Given the description of an element on the screen output the (x, y) to click on. 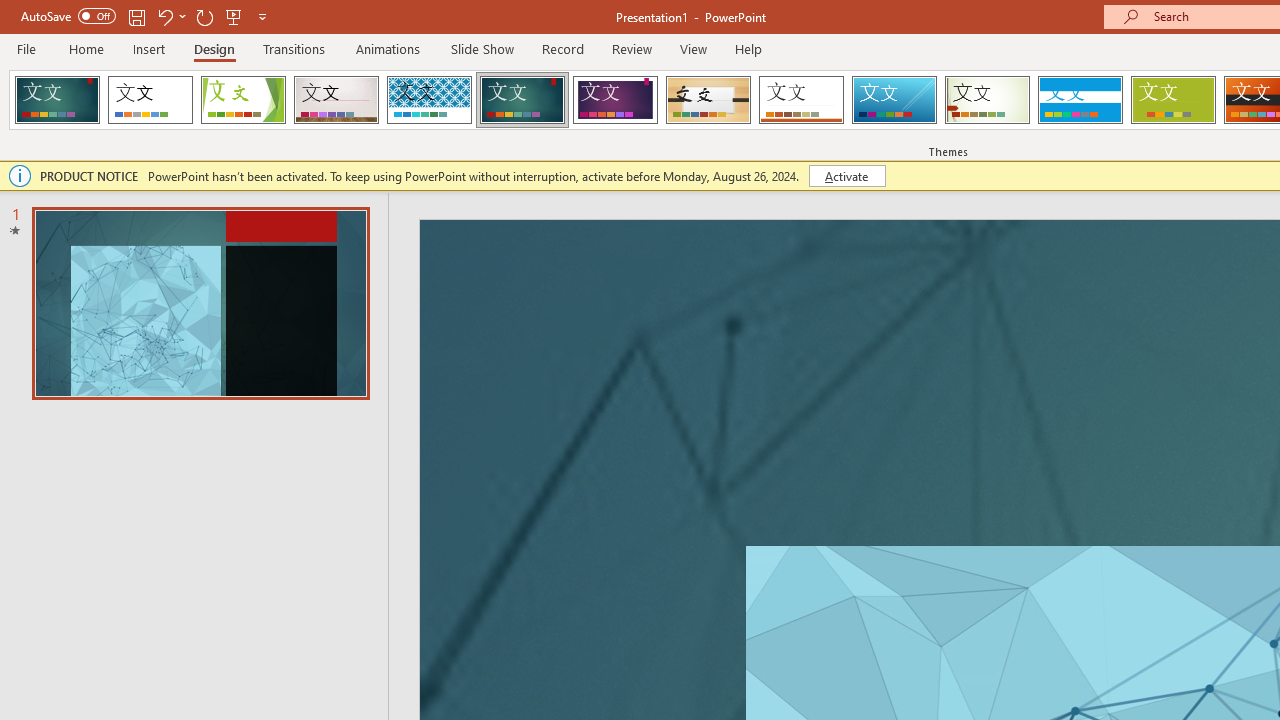
Activate (846, 175)
Retrospect (801, 100)
Basis (1172, 100)
Banded (1080, 100)
Ion (522, 100)
FadeVTI (57, 100)
